Given the description of an element on the screen output the (x, y) to click on. 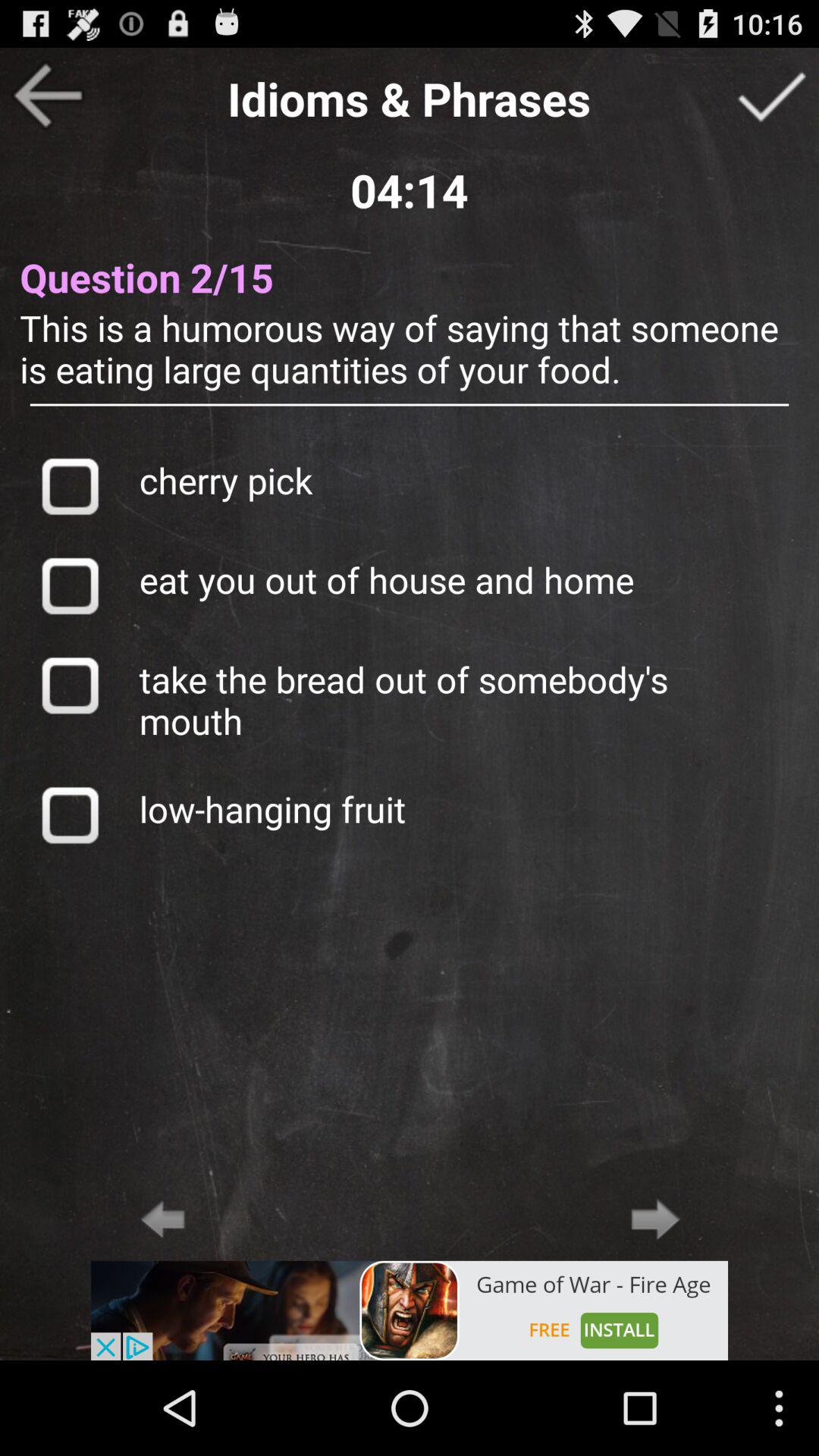
check third option (69, 684)
